Given the description of an element on the screen output the (x, y) to click on. 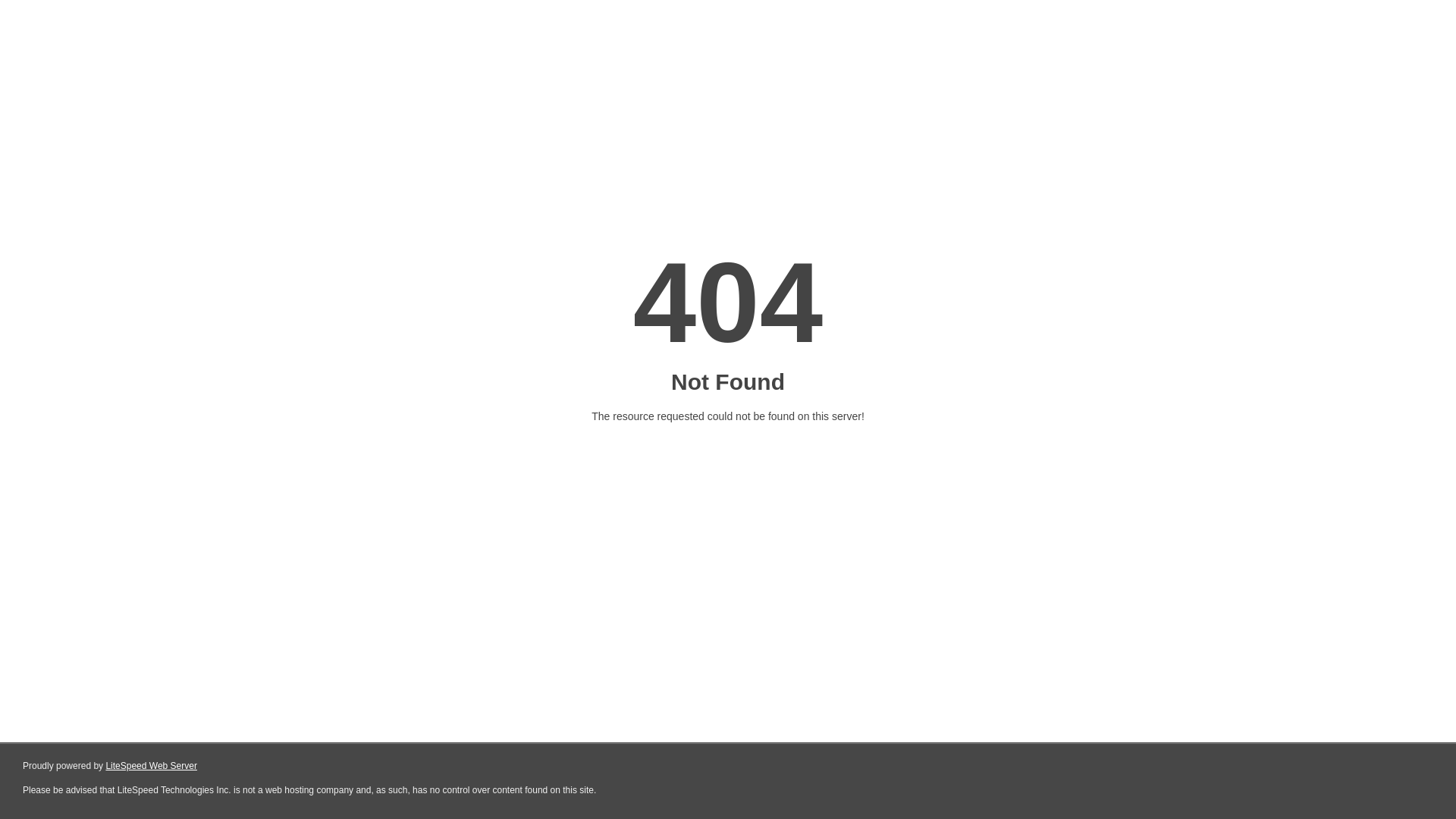
LiteSpeed Web Server Element type: text (151, 765)
